Given the description of an element on the screen output the (x, y) to click on. 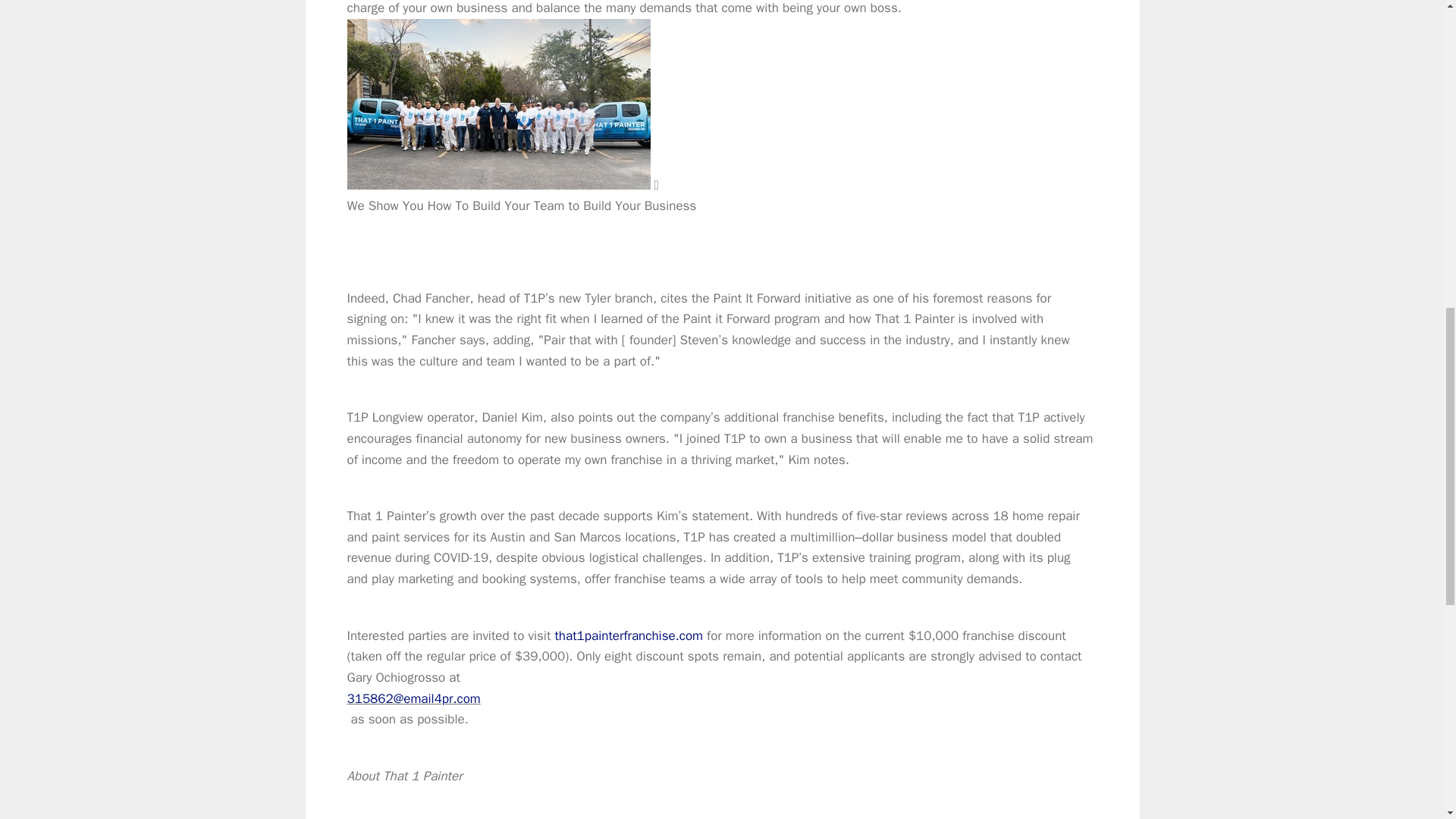
that1painterfranchise.com (628, 635)
We Show You How To Build Your Team to Build Your Business (498, 103)
